Given the description of an element on the screen output the (x, y) to click on. 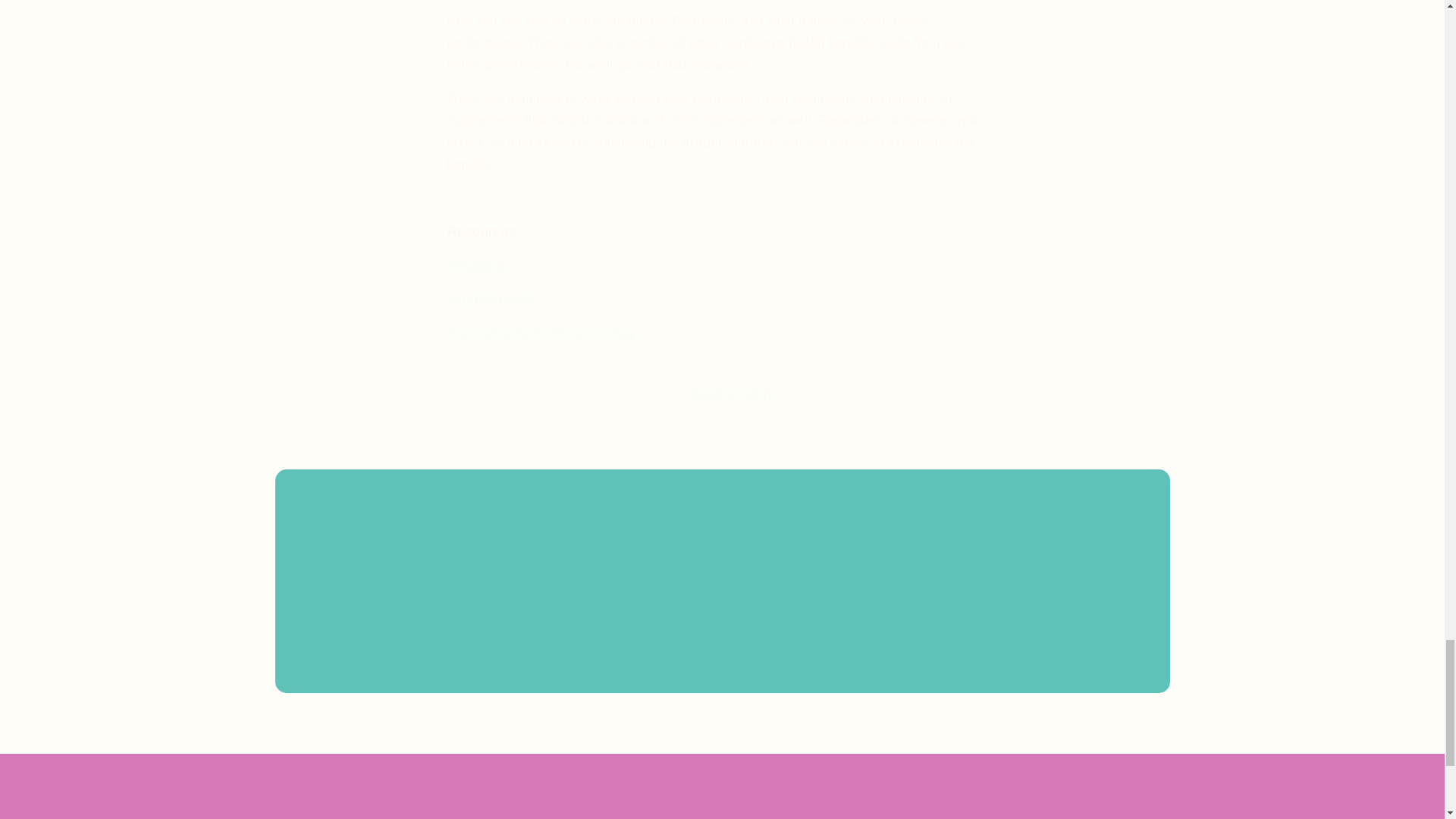
VeryWellHealth (491, 298)
Email (722, 644)
NationalCenterForBiotechnology (541, 332)
Wikipedia (474, 264)
Explanation of cordyceps (474, 264)
Where to find cordyceps (491, 298)
